Given the description of an element on the screen output the (x, y) to click on. 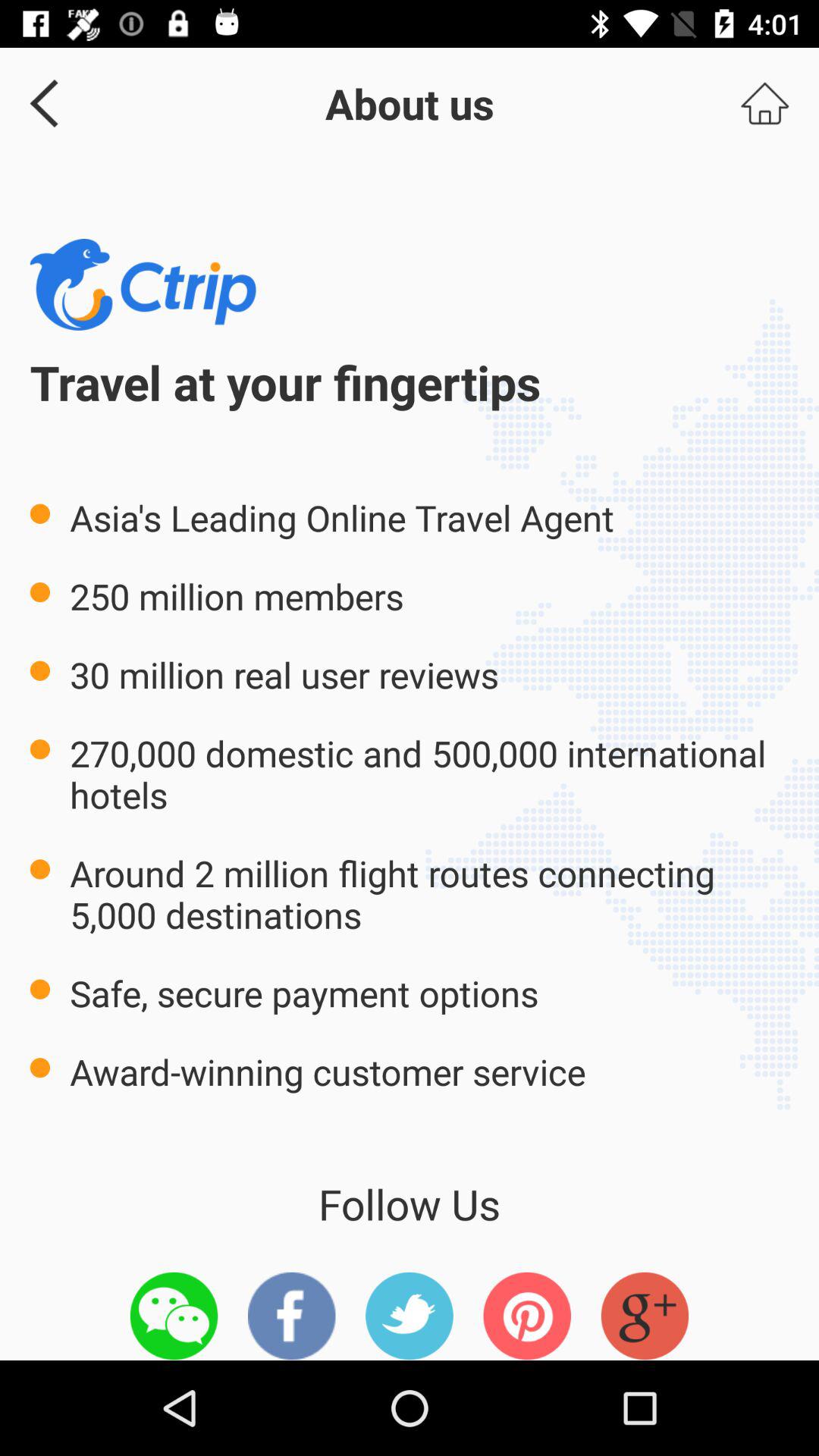
open messages (173, 1315)
